Given the description of an element on the screen output the (x, y) to click on. 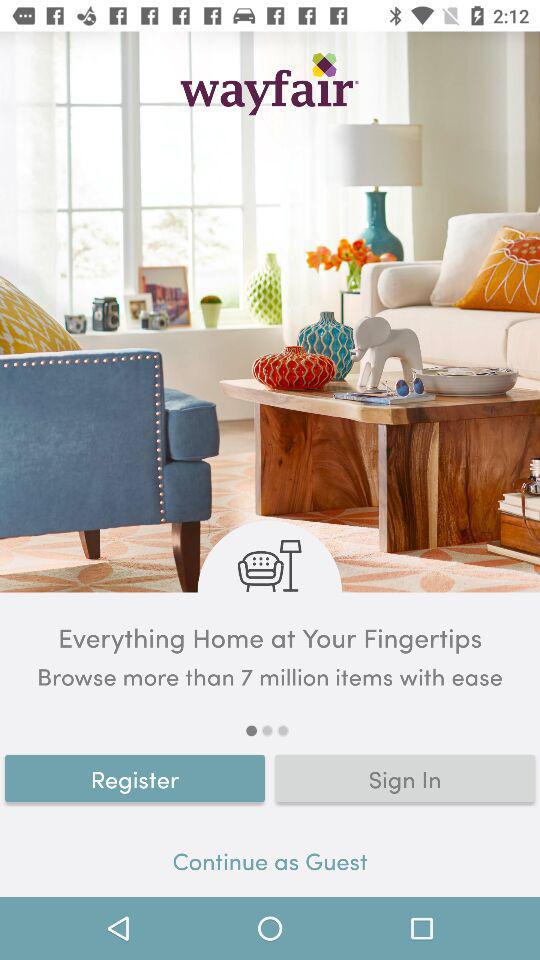
swipe to register item (135, 778)
